Given the description of an element on the screen output the (x, y) to click on. 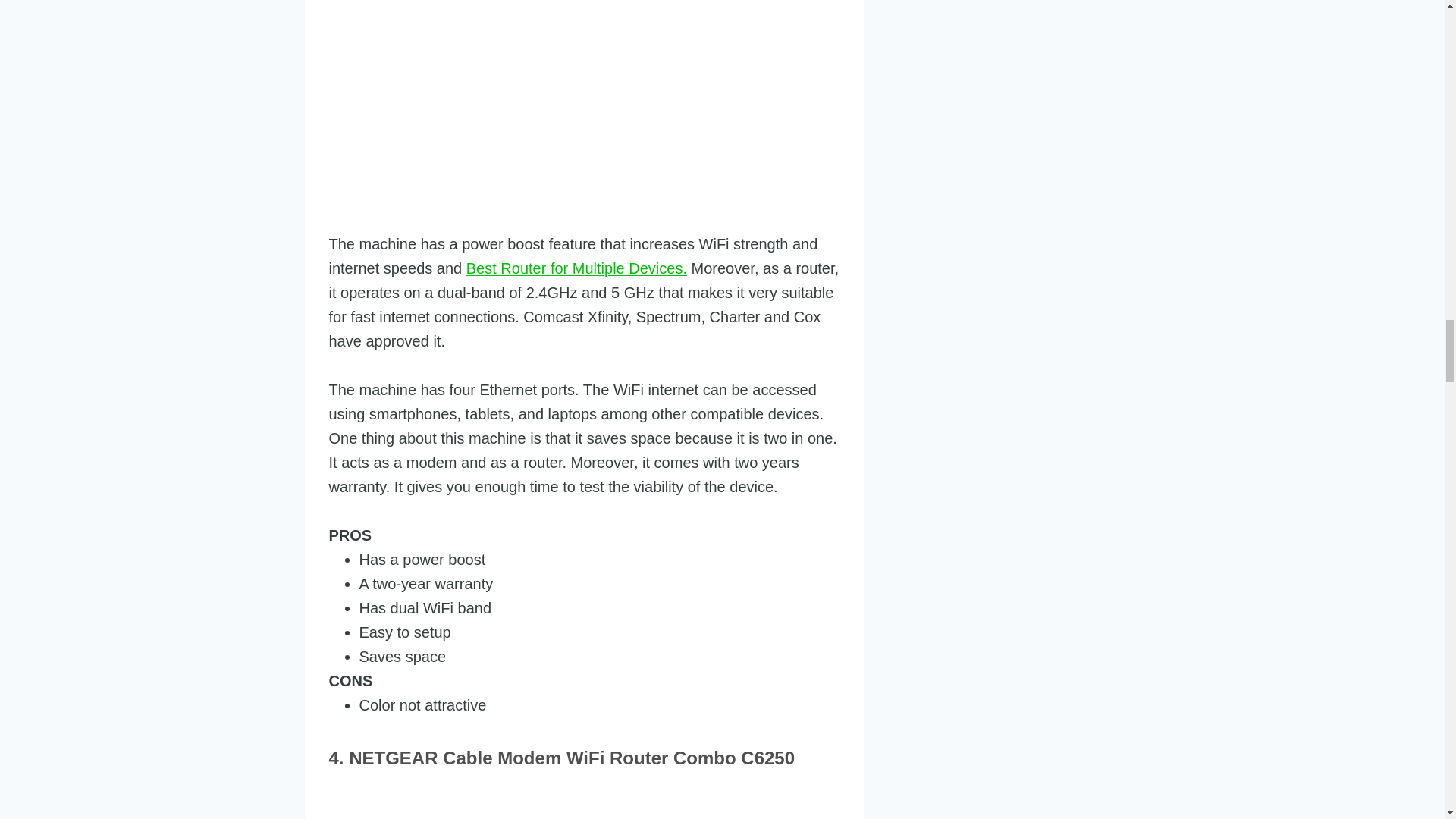
Best Router for Multiple Devices. (576, 268)
